Given the description of an element on the screen output the (x, y) to click on. 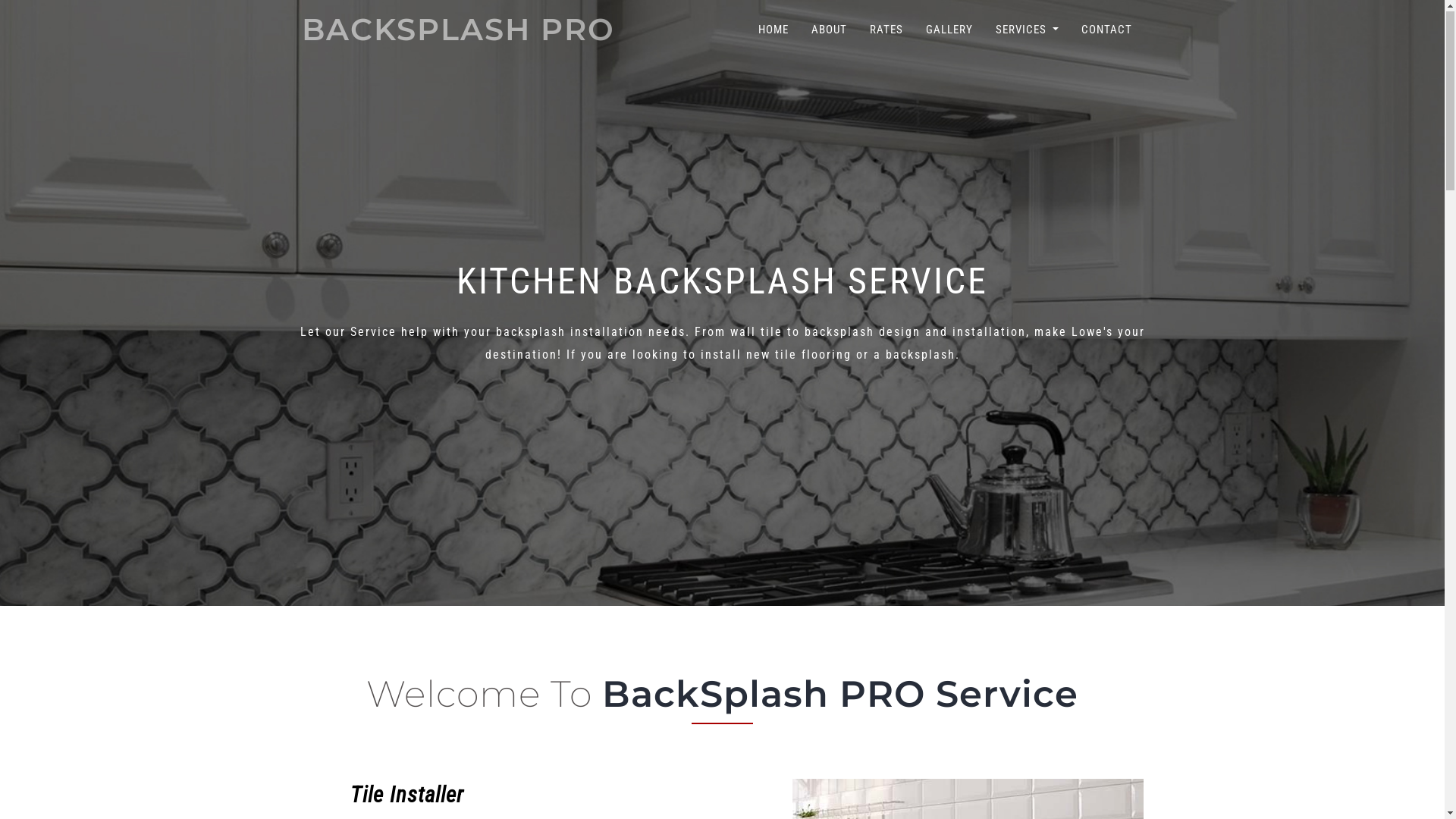
CONTACT Element type: text (1106, 30)
SERVICES Element type: text (1026, 30)
GALLERY Element type: text (948, 30)
BACKSPLASH PRO Element type: text (458, 30)
HOME
(CURRENT) Element type: text (773, 30)
ABOUT Element type: text (829, 30)
RATES Element type: text (886, 30)
